Given the description of an element on the screen output the (x, y) to click on. 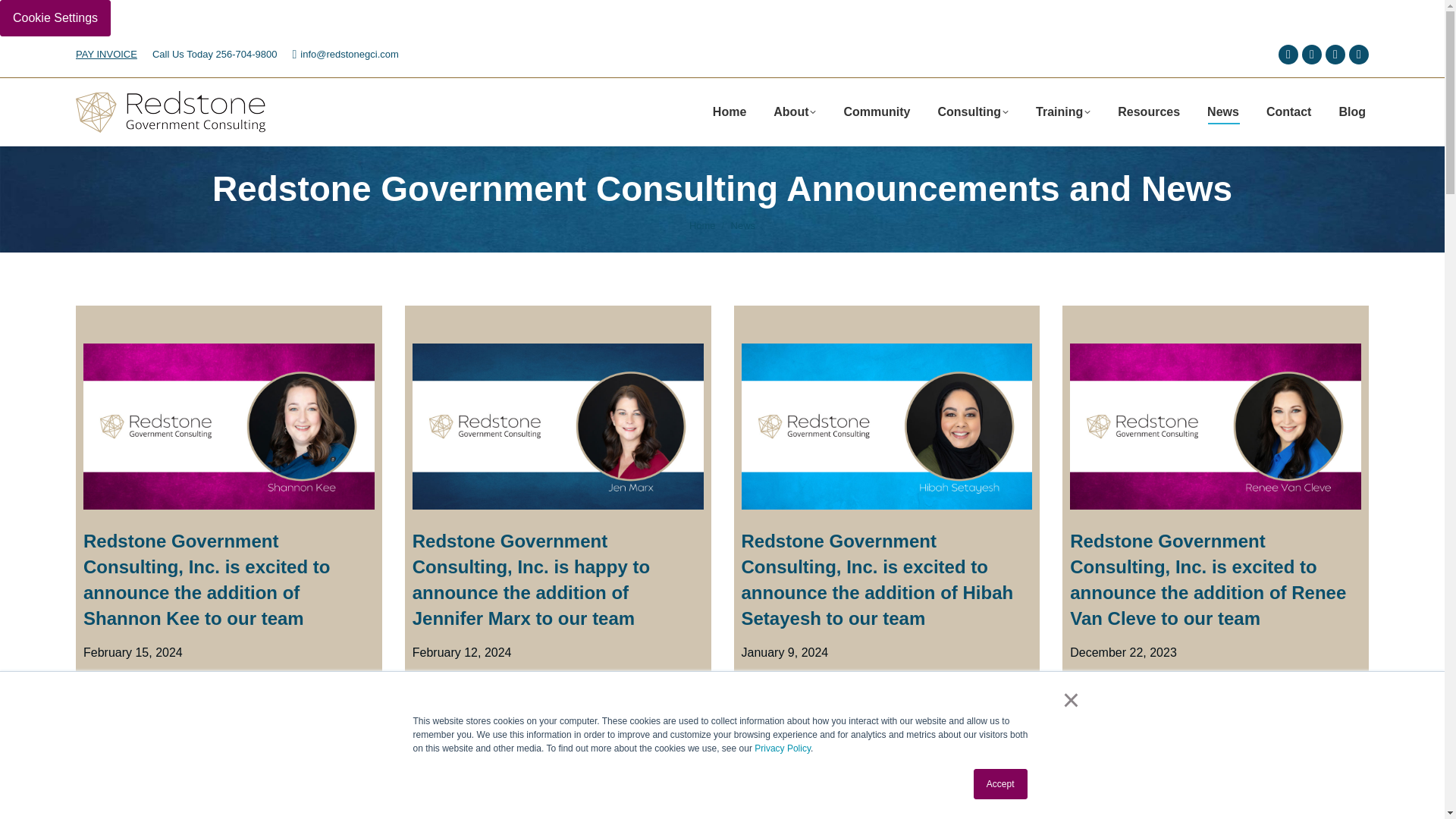
Accept (1000, 784)
Consulting (972, 111)
PAY INVOICE (105, 53)
Home (729, 111)
Linkedin page opens in new window (1334, 54)
Community (876, 111)
Call Us Today 256-704-9800 (215, 53)
Cookie Settings (55, 18)
YouTube page opens in new window (1358, 54)
Home (702, 225)
About (794, 111)
Facebook page opens in new window (1288, 54)
X page opens in new window (1311, 54)
Privacy Policy (782, 747)
